Given the description of an element on the screen output the (x, y) to click on. 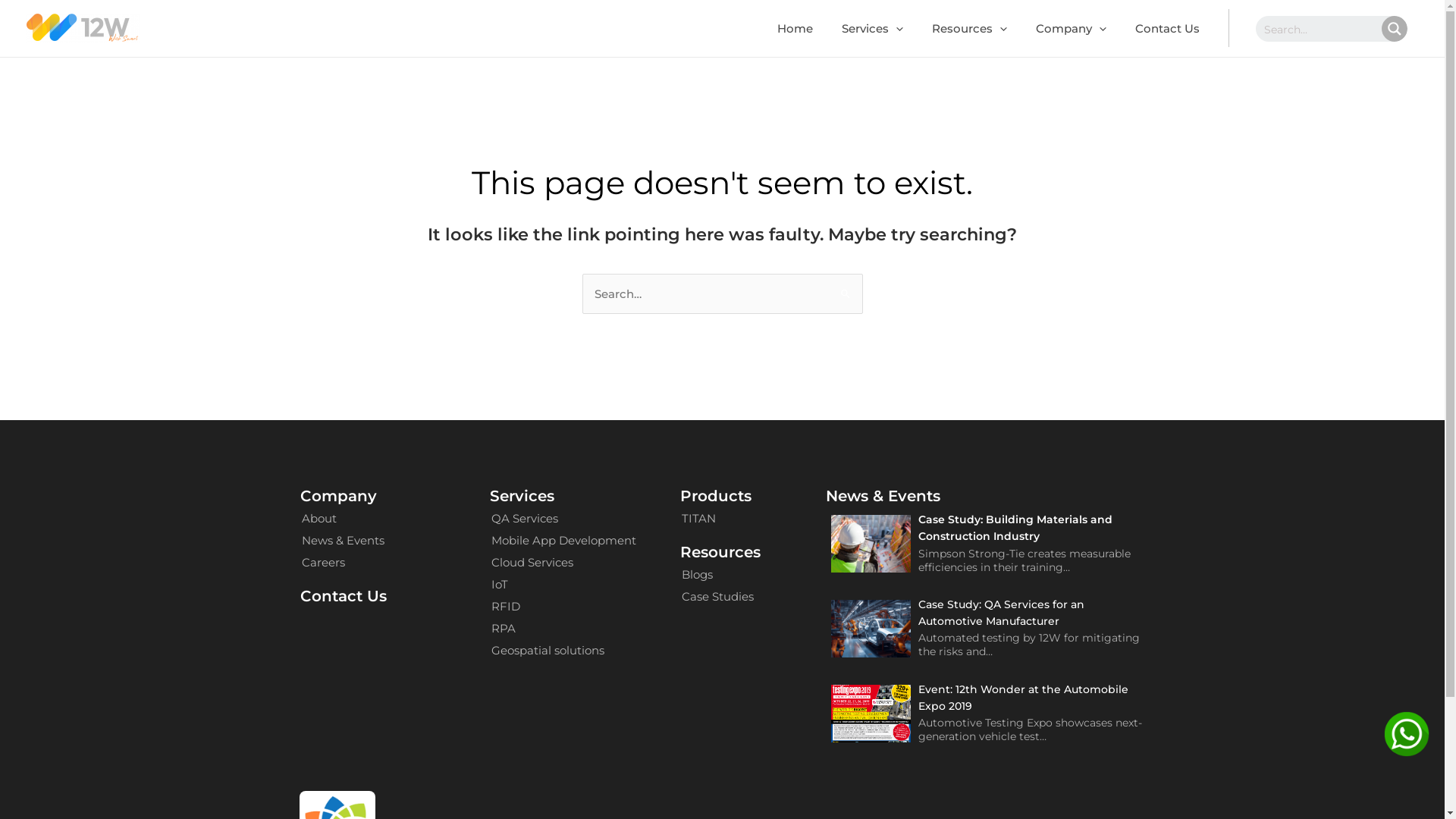
Company Element type: text (1070, 28)
Case Studies Element type: text (717, 596)
News & Events Element type: text (342, 540)
Resources Element type: text (969, 28)
Mobile App Development Element type: text (563, 540)
Search Element type: text (845, 288)
Case Study: QA Services for an Automotive Manufacturer Element type: text (1001, 612)
Contact Us Element type: text (343, 595)
About Element type: text (342, 518)
TITAN Element type: text (698, 518)
Cloud Services Element type: text (563, 562)
Geospatial solutions Element type: text (563, 650)
Home Element type: text (794, 28)
Services Element type: text (872, 28)
RFID Element type: text (563, 606)
Blogs Element type: text (717, 574)
Careers Element type: text (342, 562)
Case Study: Building Materials and Construction Industry Element type: text (1015, 527)
RPA Element type: text (563, 628)
Event: 12th Wonder at the Automobile Expo 2019 Element type: text (1023, 697)
IoT Element type: text (563, 584)
Contact Us Element type: text (1167, 28)
QA Services Element type: text (563, 518)
